Given the description of an element on the screen output the (x, y) to click on. 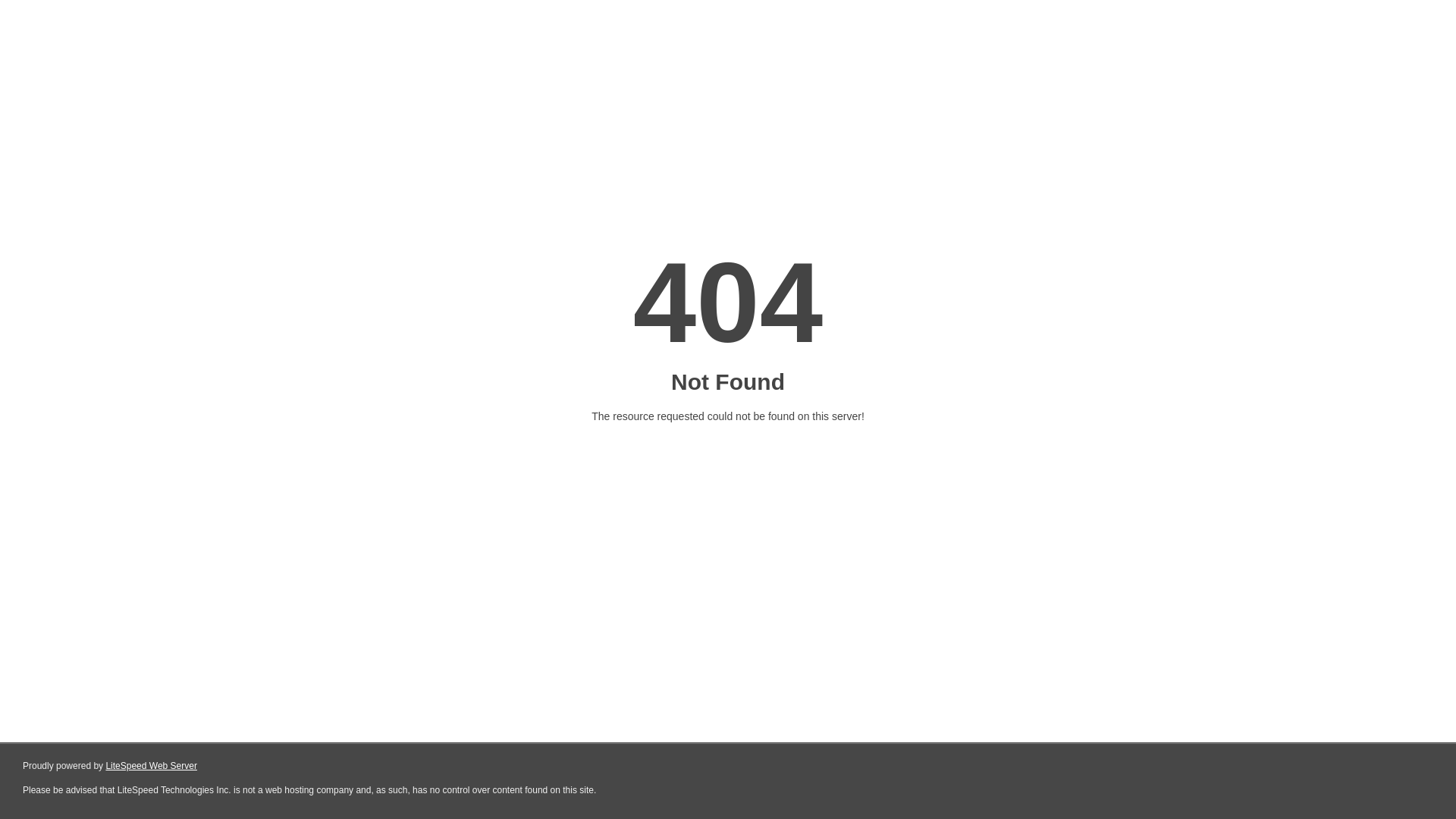
LiteSpeed Web Server Element type: text (151, 765)
